Given the description of an element on the screen output the (x, y) to click on. 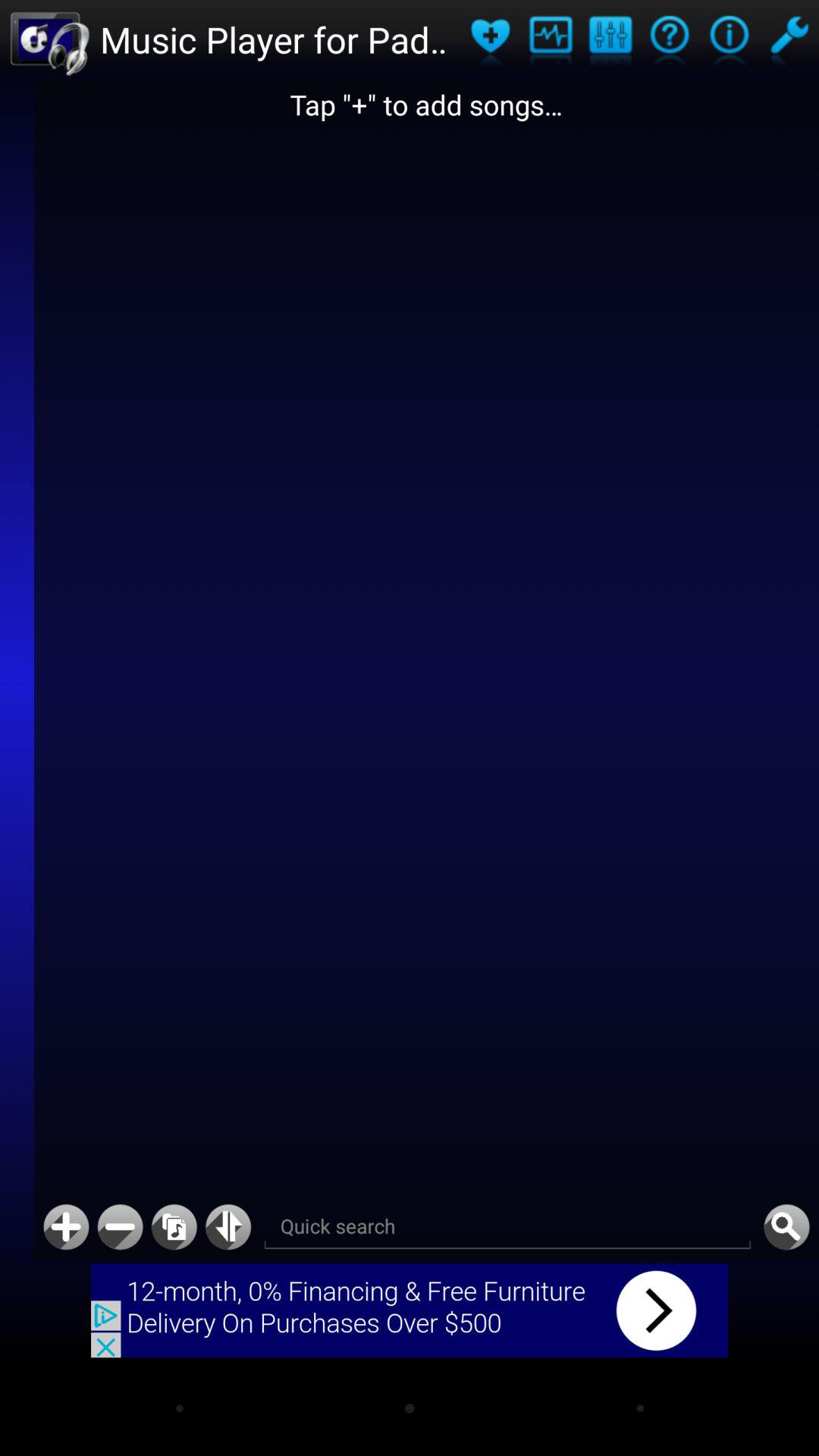
ask a question (669, 39)
